Given the description of an element on the screen output the (x, y) to click on. 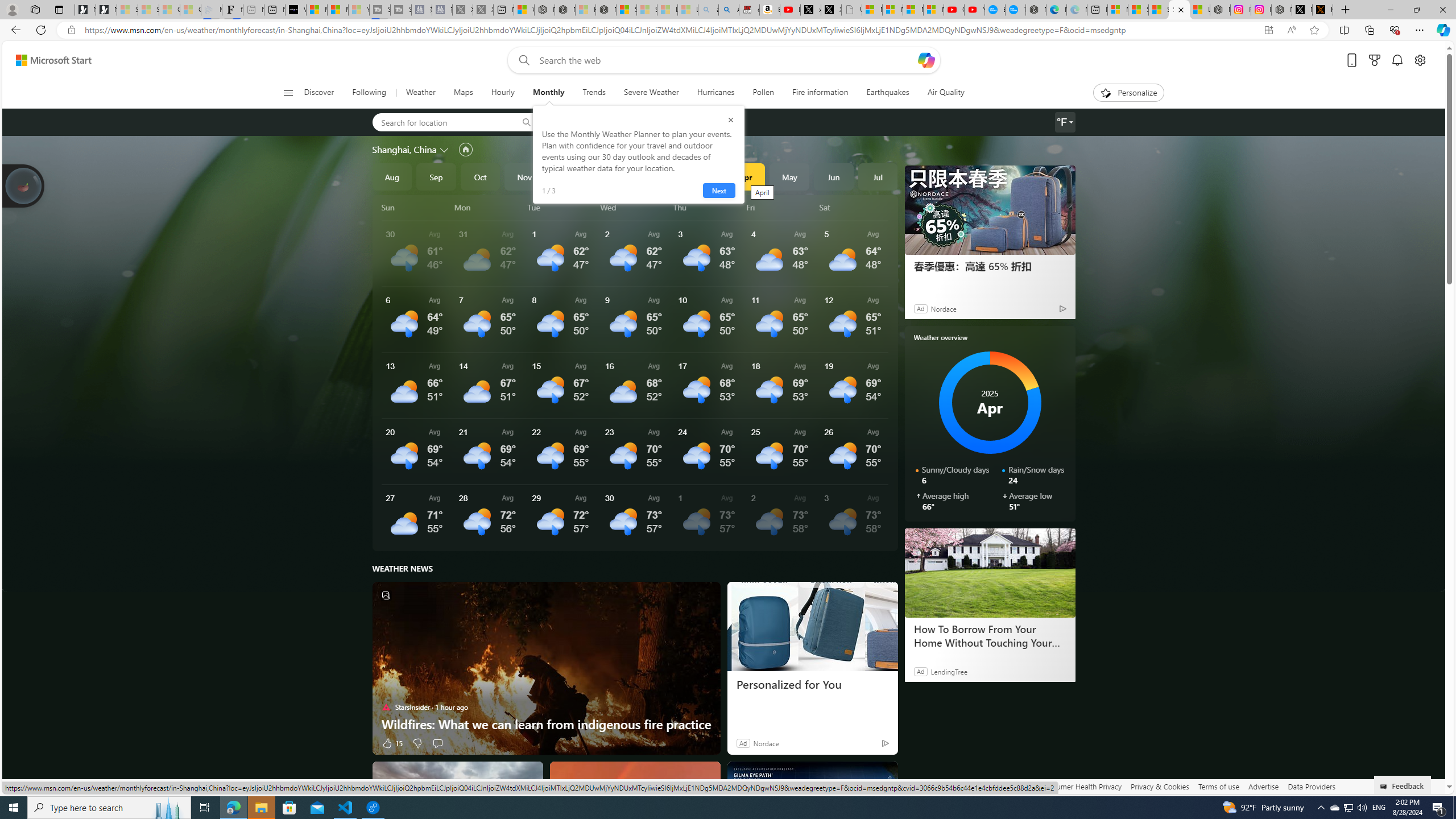
Microsoft rewards (1374, 60)
Severe Weather (651, 92)
Aug (391, 176)
Next (718, 190)
Fri (780, 207)
Pollen (763, 92)
May (789, 176)
Ad Choice (884, 743)
Nov (523, 176)
See more (884, 774)
